Given the description of an element on the screen output the (x, y) to click on. 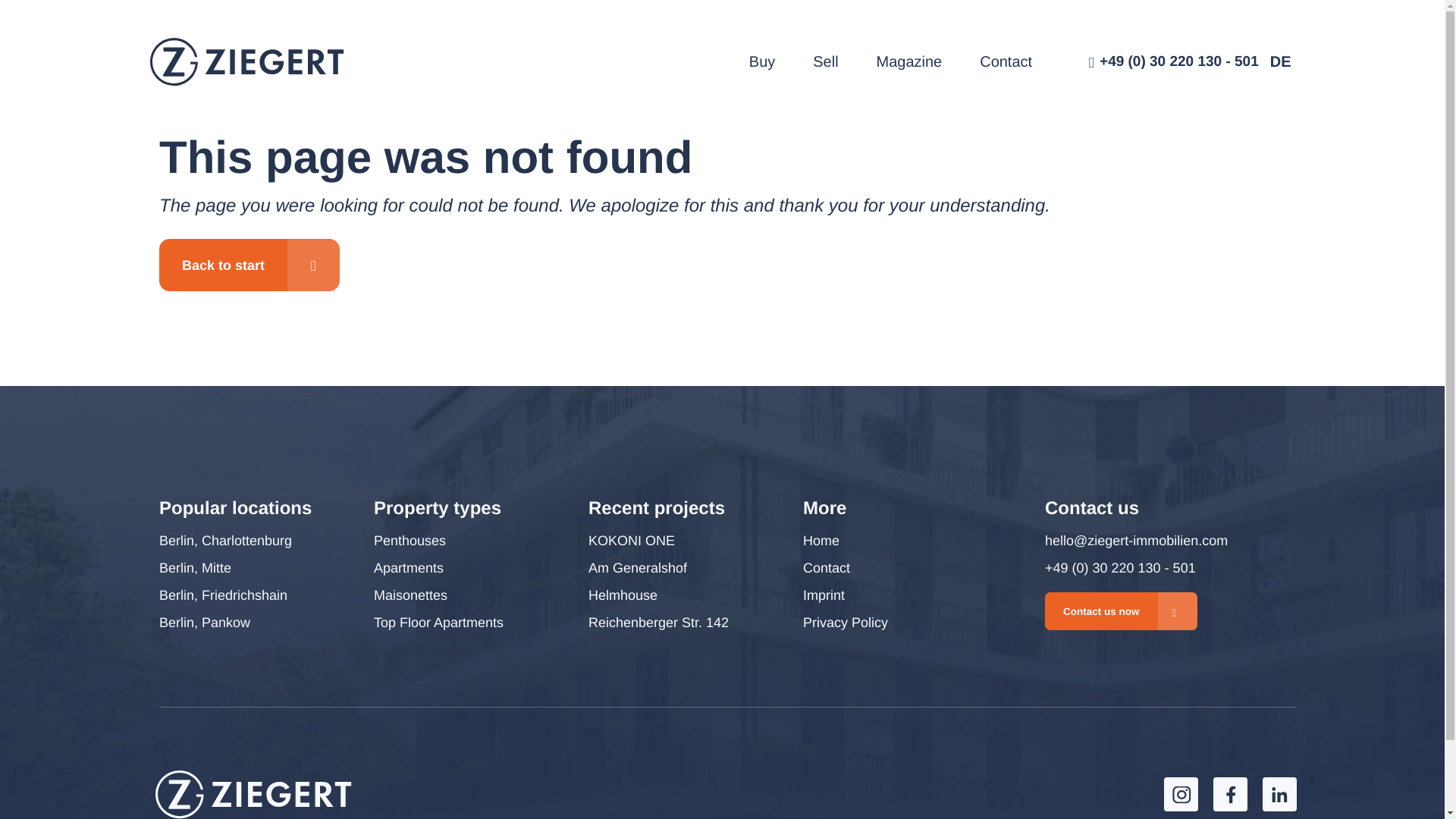
Berlin, Friedrichshain (222, 595)
Magazine (909, 62)
Popular locations (234, 508)
Sell (825, 62)
Back to start (248, 265)
Sell (825, 62)
Property types (437, 508)
Buy (761, 62)
Berlin, Pankow (204, 622)
Buy (761, 62)
Berlin, Charlottenburg (225, 540)
Berlin, Mitte (194, 567)
DE (1280, 61)
Penthouses (409, 540)
Contact (1005, 62)
